Given the description of an element on the screen output the (x, y) to click on. 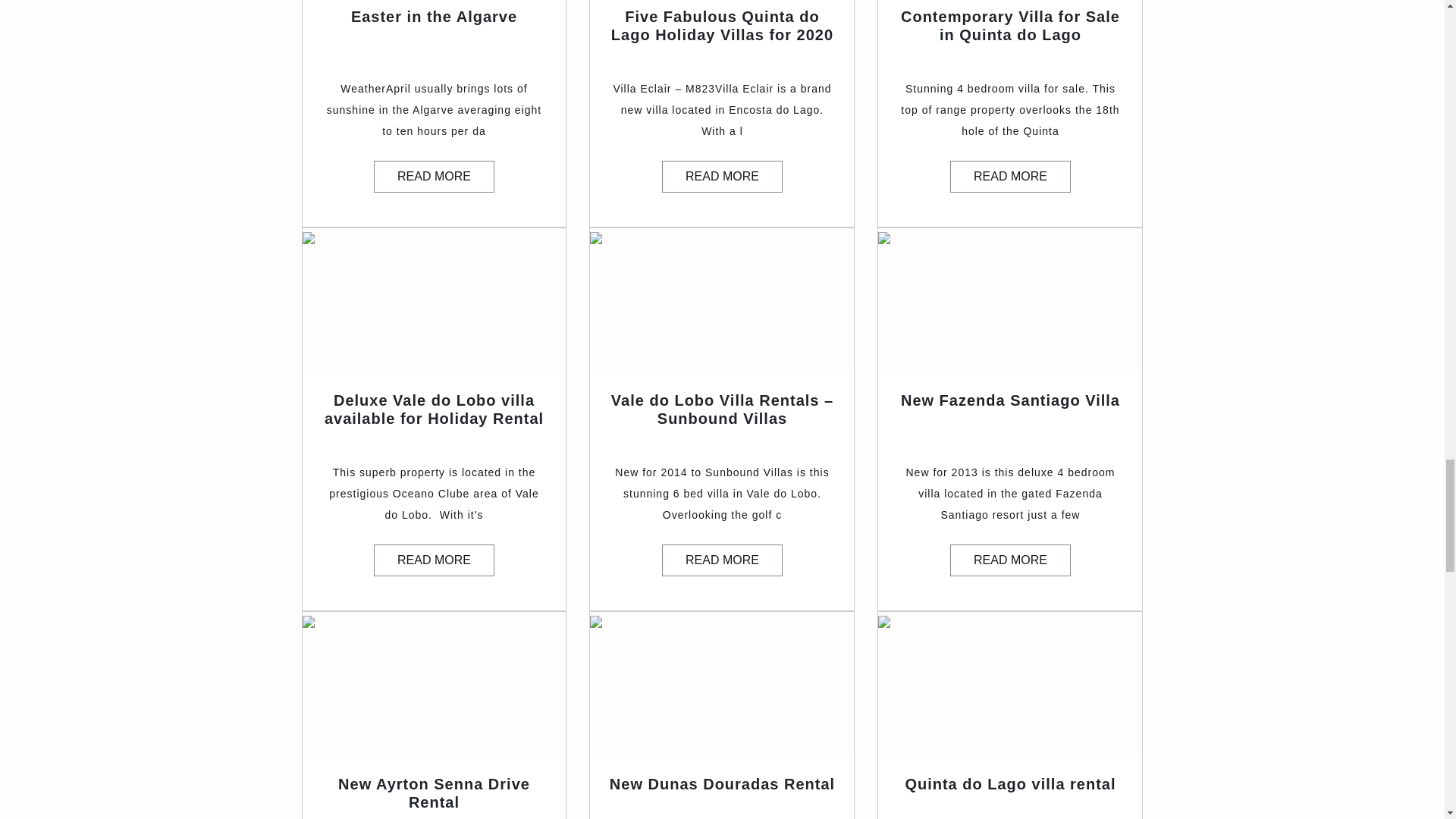
READ MORE (722, 176)
READ MORE (434, 176)
READ MORE (722, 560)
READ MORE (1010, 176)
READ MORE (1010, 560)
READ MORE (434, 560)
